Given the description of an element on the screen output the (x, y) to click on. 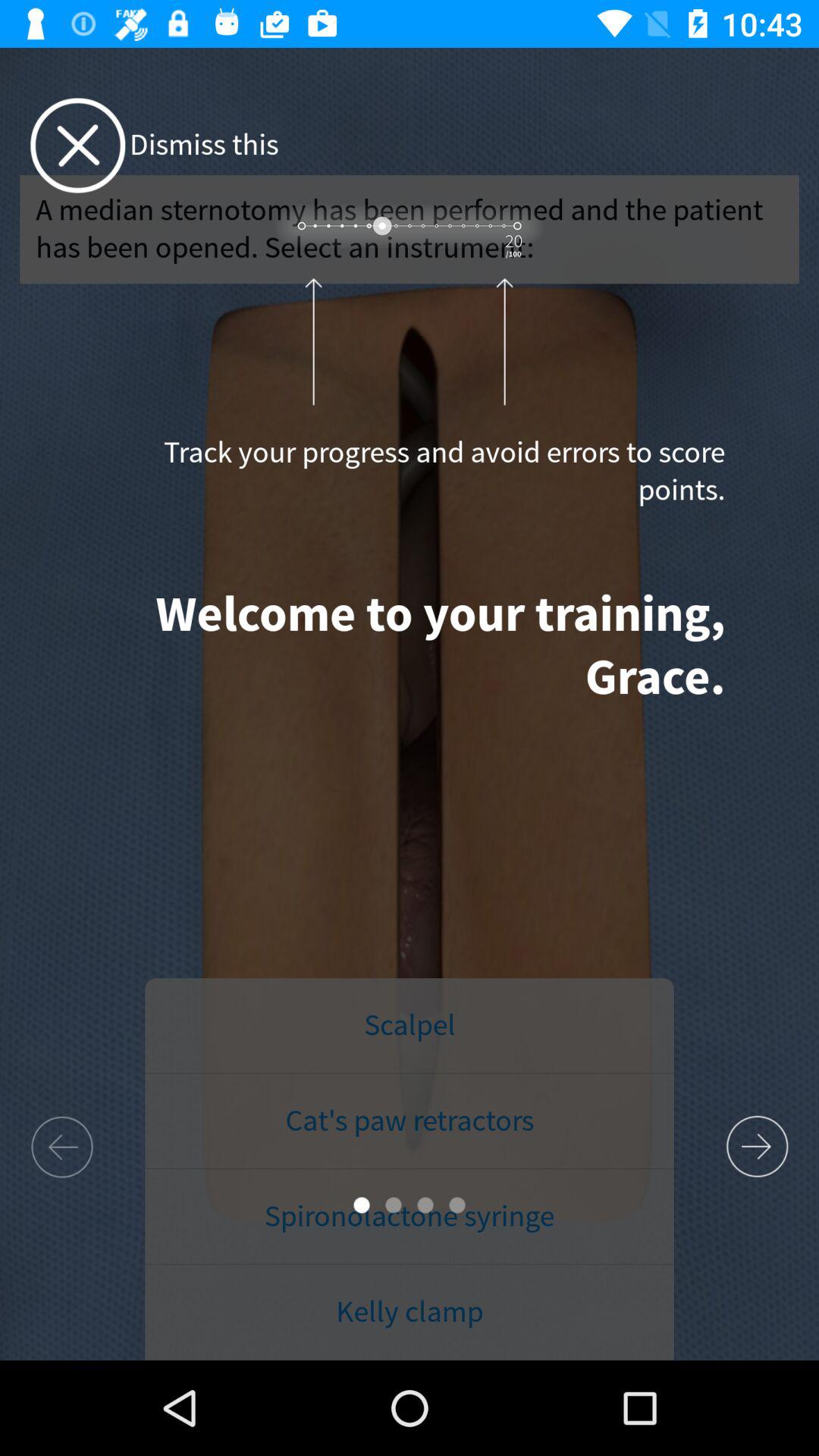
flip until the cat s paw item (409, 1121)
